Given the description of an element on the screen output the (x, y) to click on. 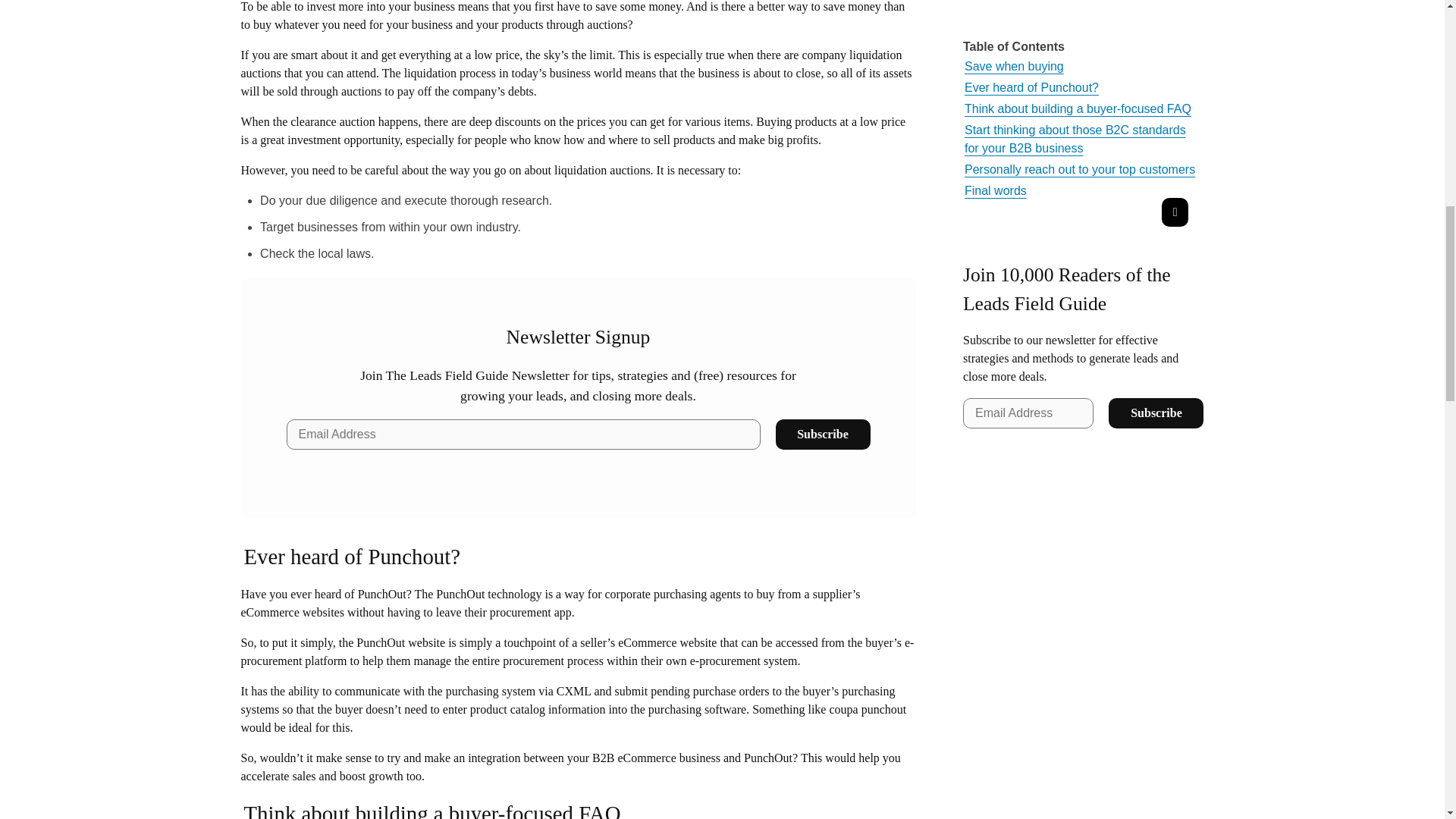
Subscribe (821, 434)
